Given the description of an element on the screen output the (x, y) to click on. 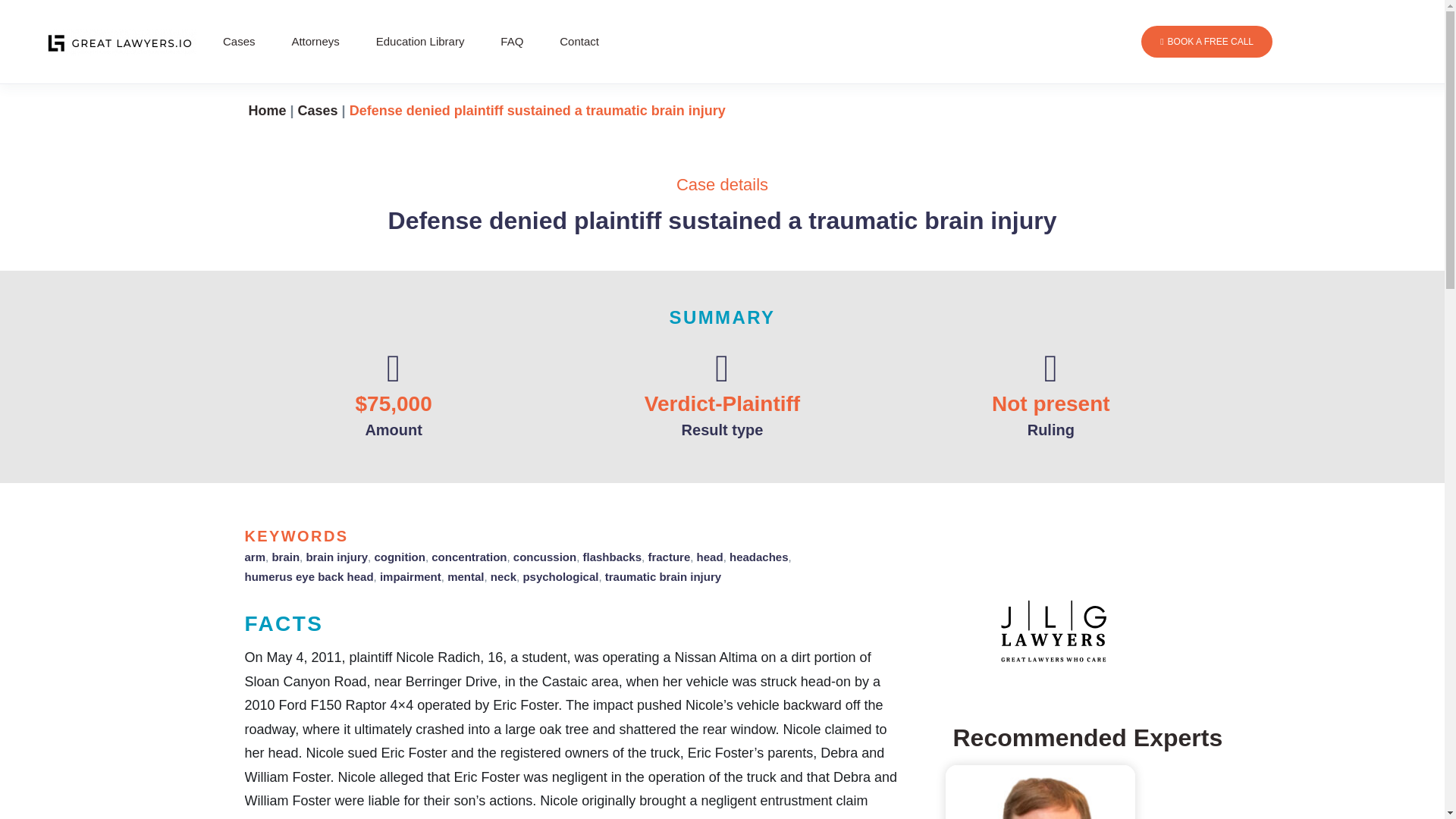
Cases (317, 110)
Contact (578, 41)
Home (267, 110)
BOOK A FREE CALL (1206, 41)
Education Library (419, 41)
Attorneys (315, 41)
